Given the description of an element on the screen output the (x, y) to click on. 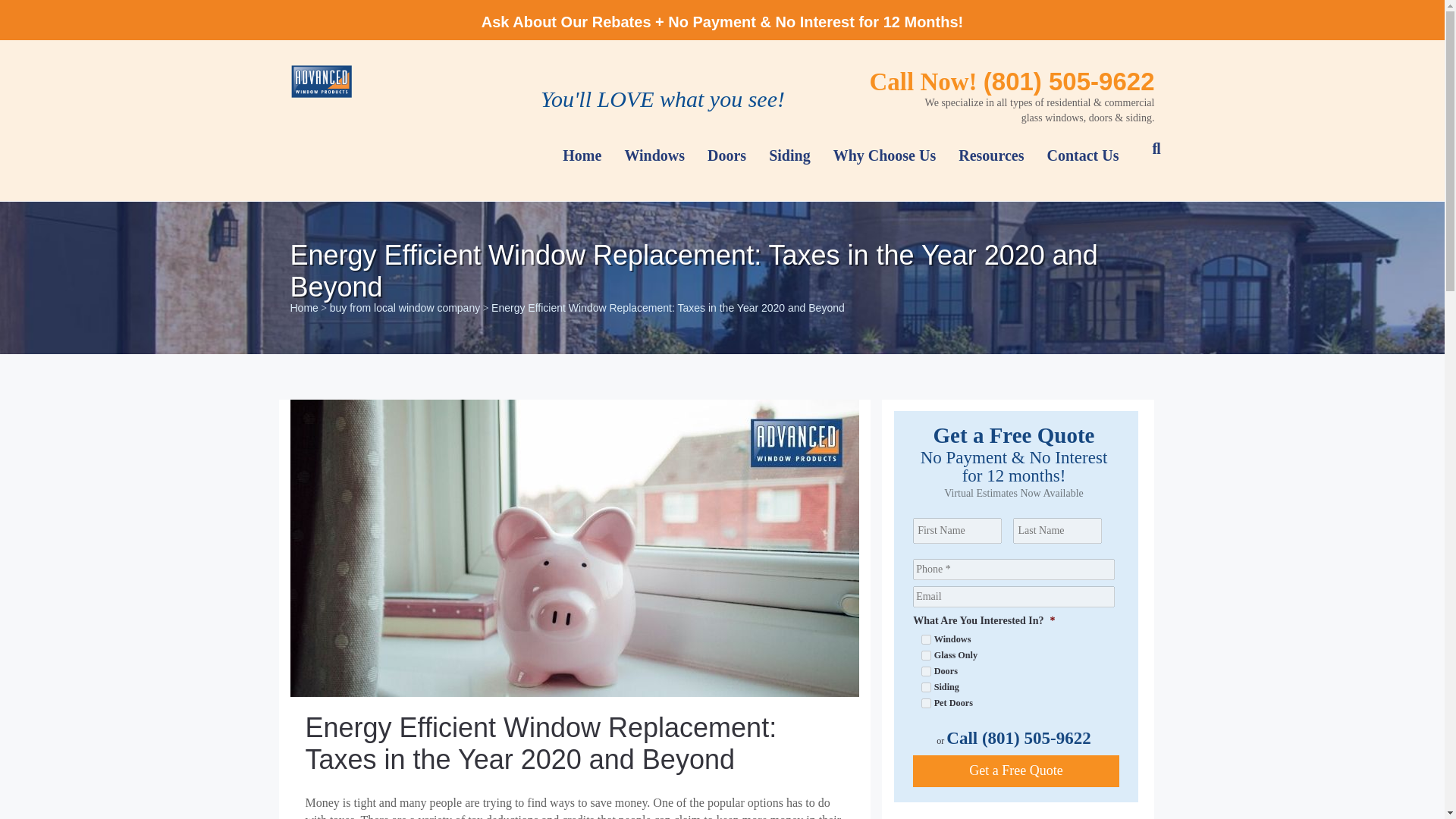
Windows (653, 155)
Glass Only (926, 655)
Doors (926, 671)
Siding (789, 155)
Siding (926, 687)
Windows (926, 639)
Doors (726, 155)
Pet Doors (926, 703)
